Given the description of an element on the screen output the (x, y) to click on. 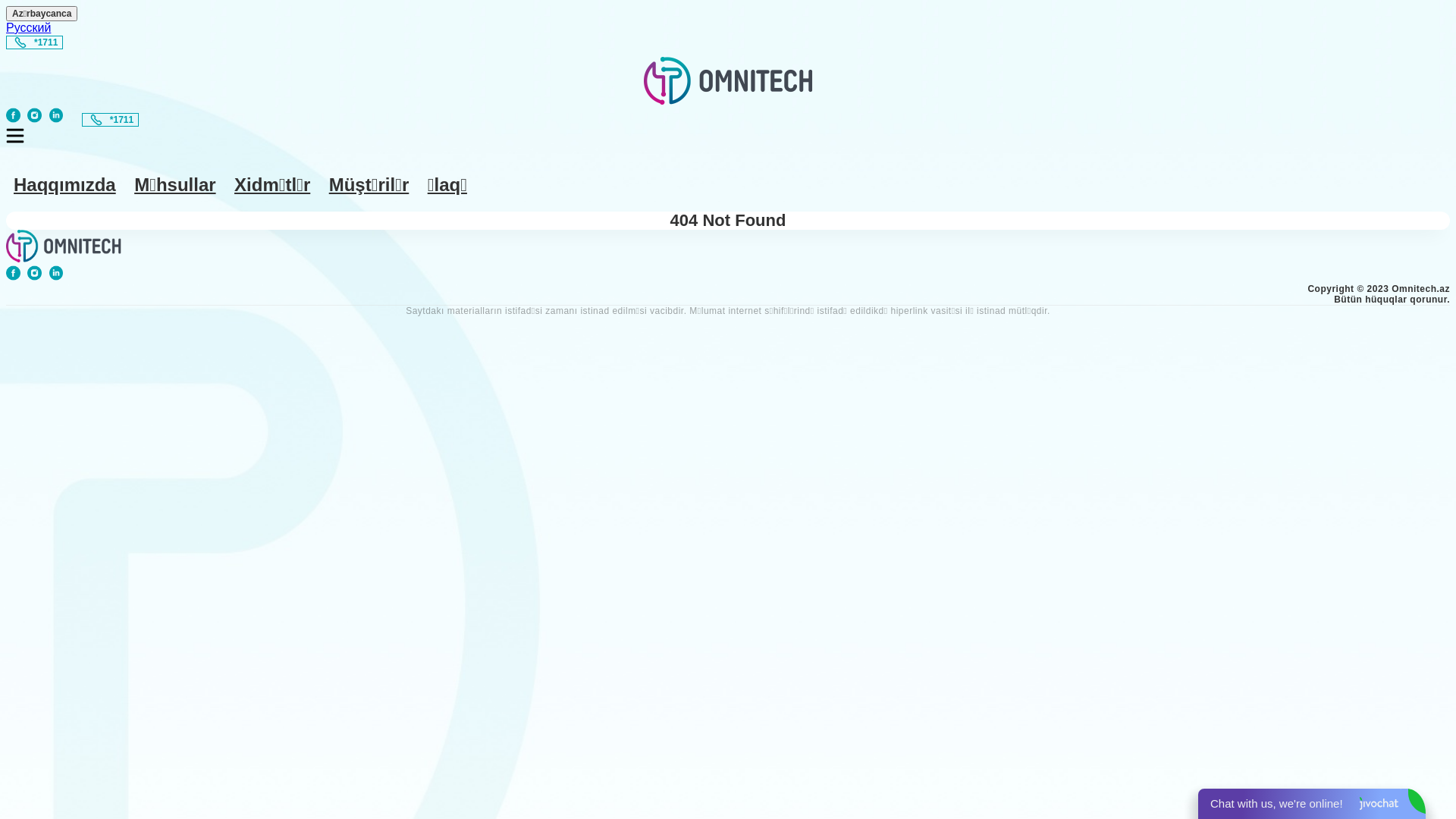
*1711 Element type: text (34, 40)
*1711 Element type: text (34, 42)
*1711 Element type: text (109, 118)
*1711 Element type: text (109, 119)
